Given the description of an element on the screen output the (x, y) to click on. 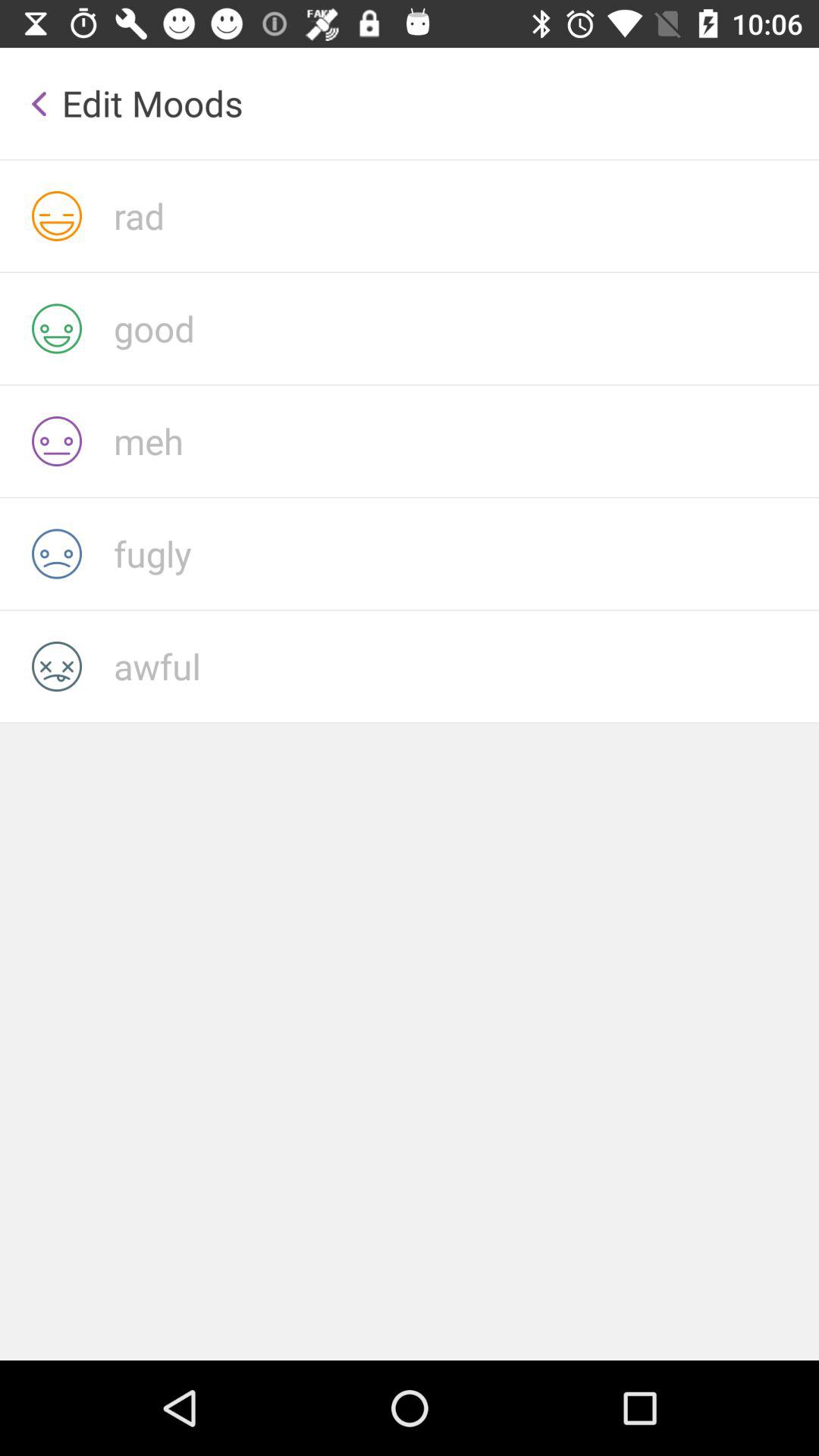
choose good option (466, 328)
